Given the description of an element on the screen output the (x, y) to click on. 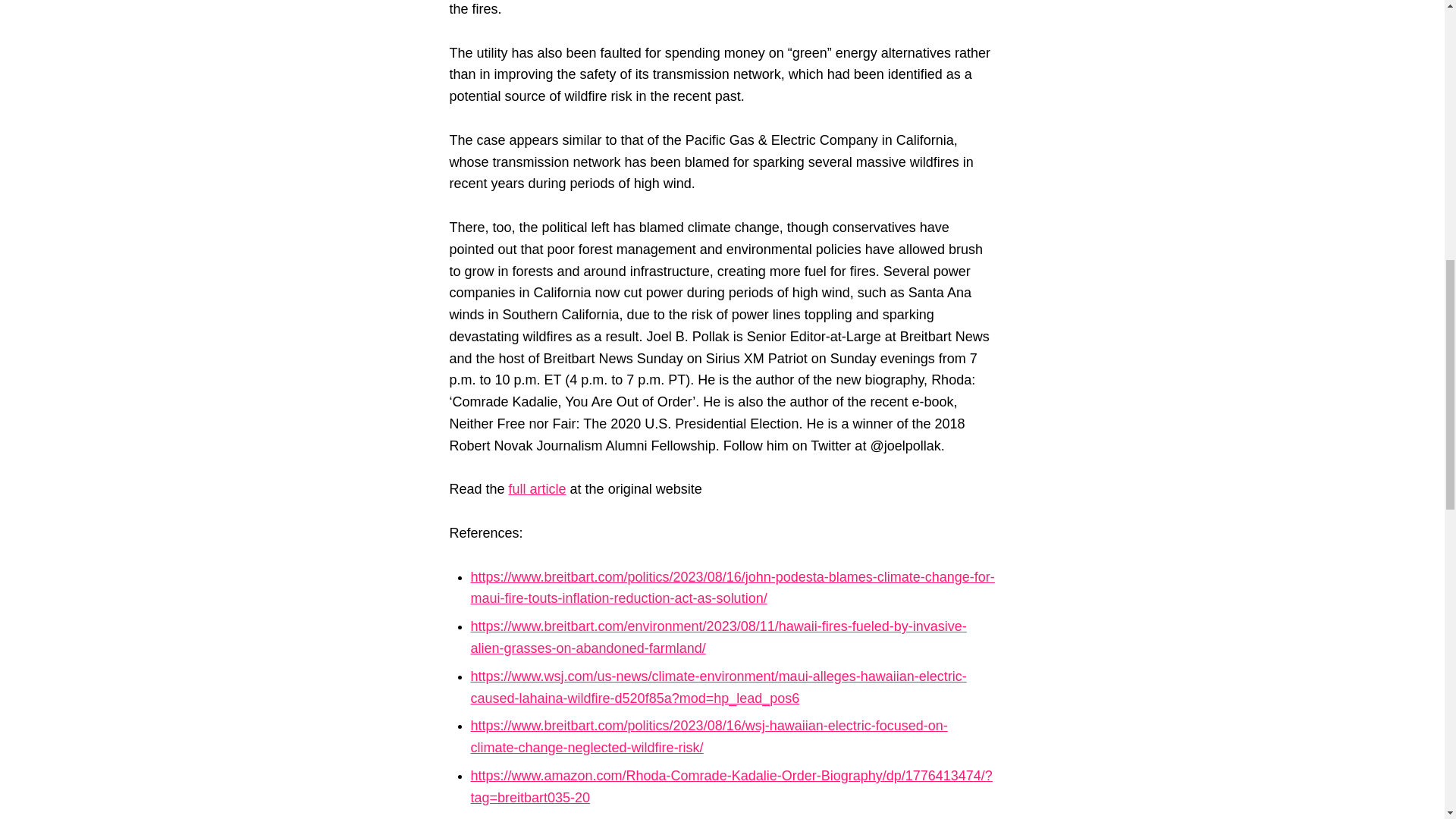
full article (537, 488)
